Given the description of an element on the screen output the (x, y) to click on. 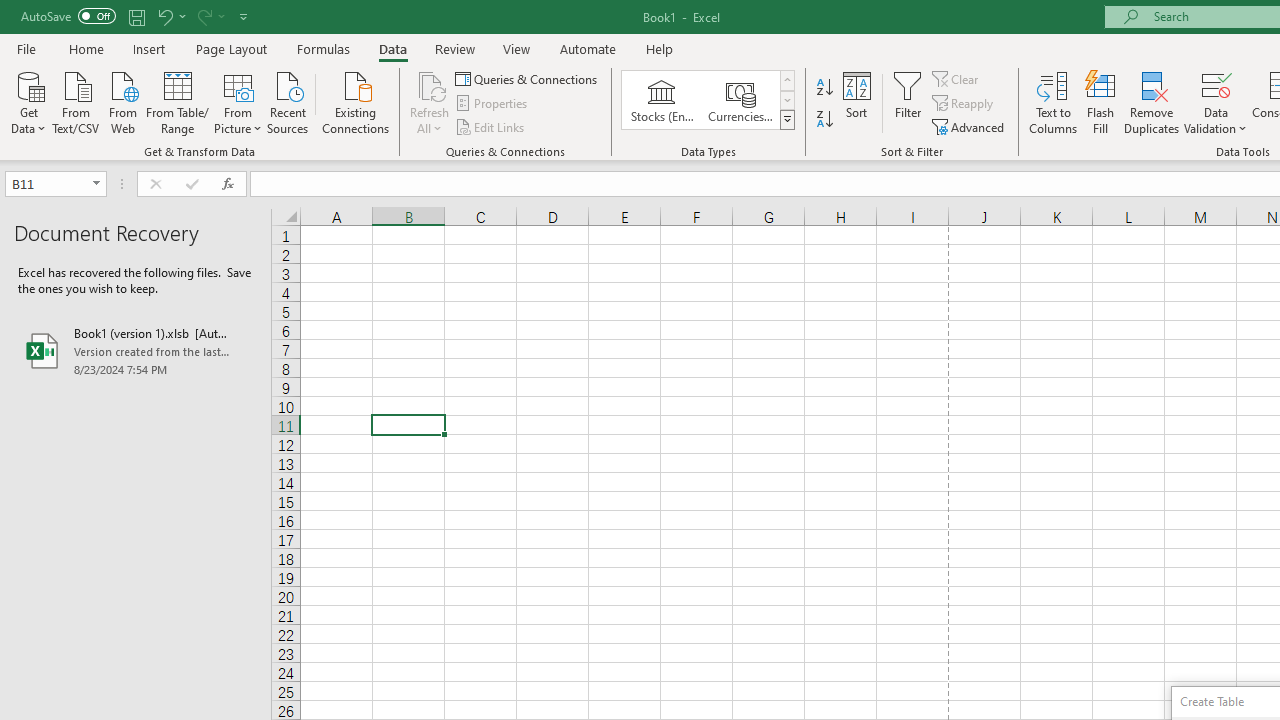
Text to Columns... (1053, 102)
Stocks (English) (662, 100)
Reapply (964, 103)
Filter (908, 102)
Existing Connections (355, 101)
